Given the description of an element on the screen output the (x, y) to click on. 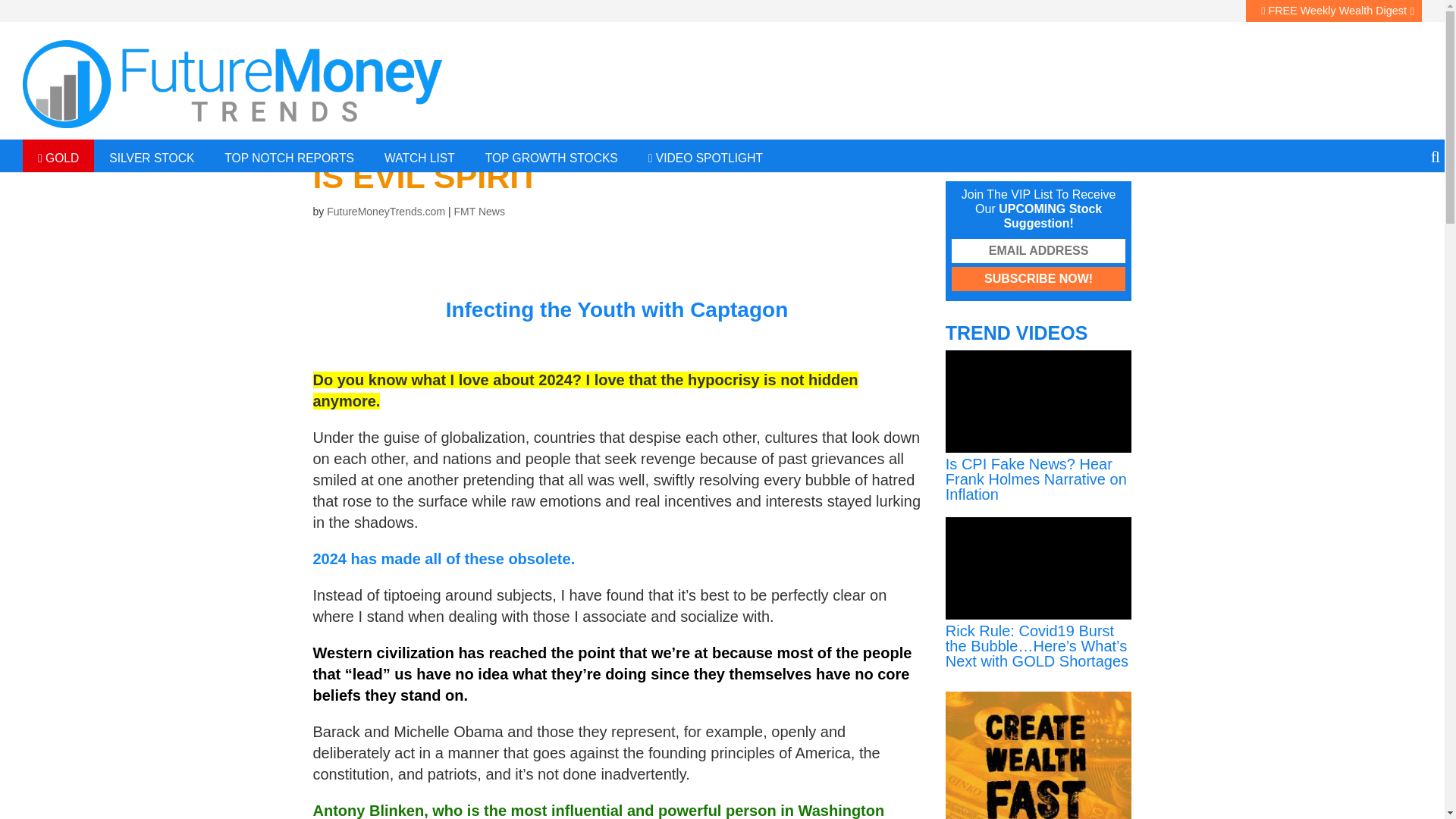
FutureMoneyTrends.com (385, 211)
TOP NOTCH REPORTS (289, 155)
FMT News (477, 211)
Search (474, 11)
Receive our Weekly Wealth Ideas (1232, 114)
TOP GROWTH STOCKS (551, 155)
Search (1088, 142)
FREE Weekly Wealth Digest (1334, 11)
WATCH LIST (419, 155)
Search (1088, 142)
